Given the description of an element on the screen output the (x, y) to click on. 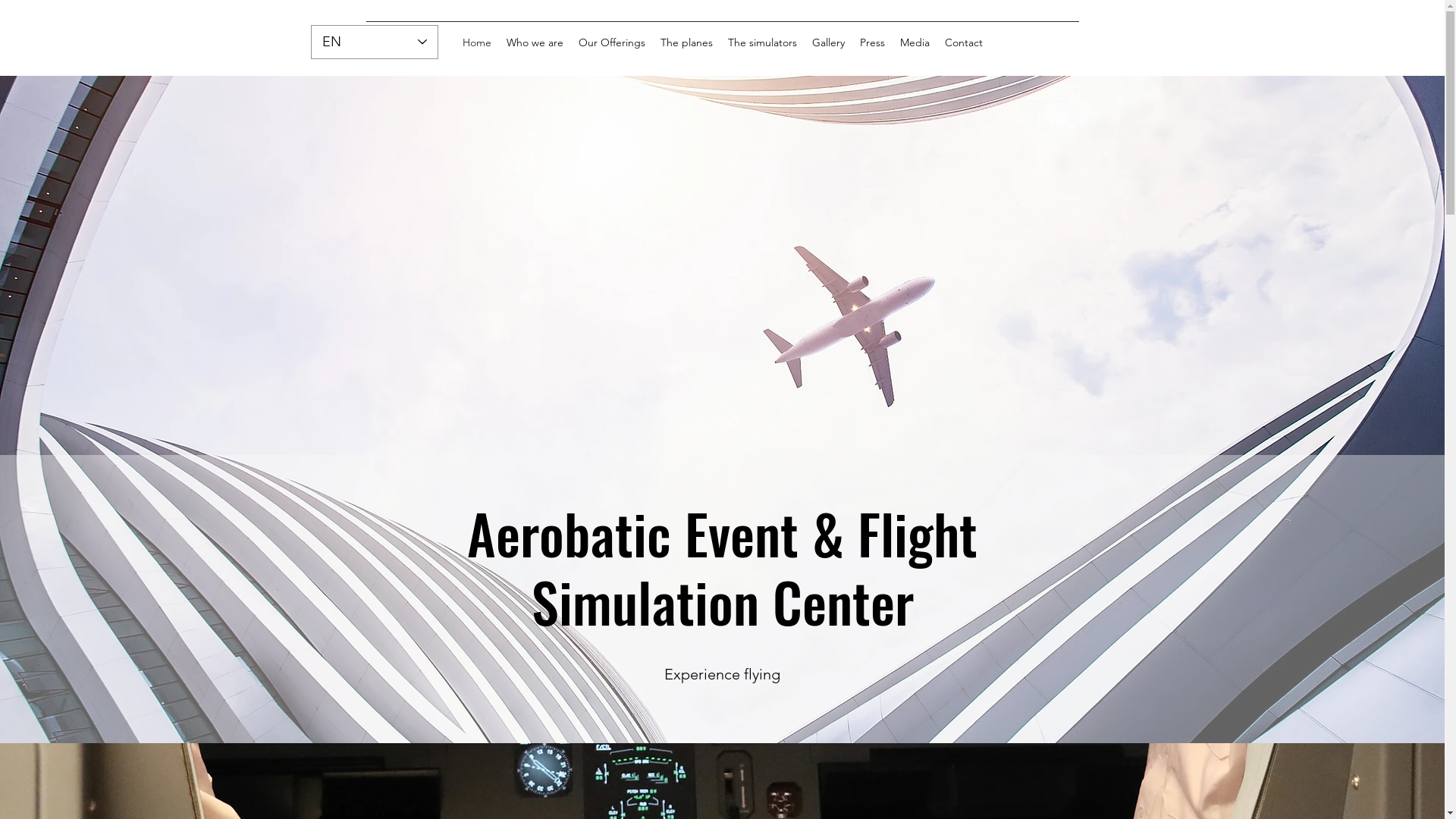
Press Element type: text (872, 42)
Media Element type: text (913, 42)
Contact Element type: text (963, 42)
The planes Element type: text (685, 42)
The simulators Element type: text (762, 42)
Gallery Element type: text (827, 42)
Our Offerings Element type: text (611, 42)
Home Element type: text (476, 42)
Who we are Element type: text (534, 42)
